Given the description of an element on the screen output the (x, y) to click on. 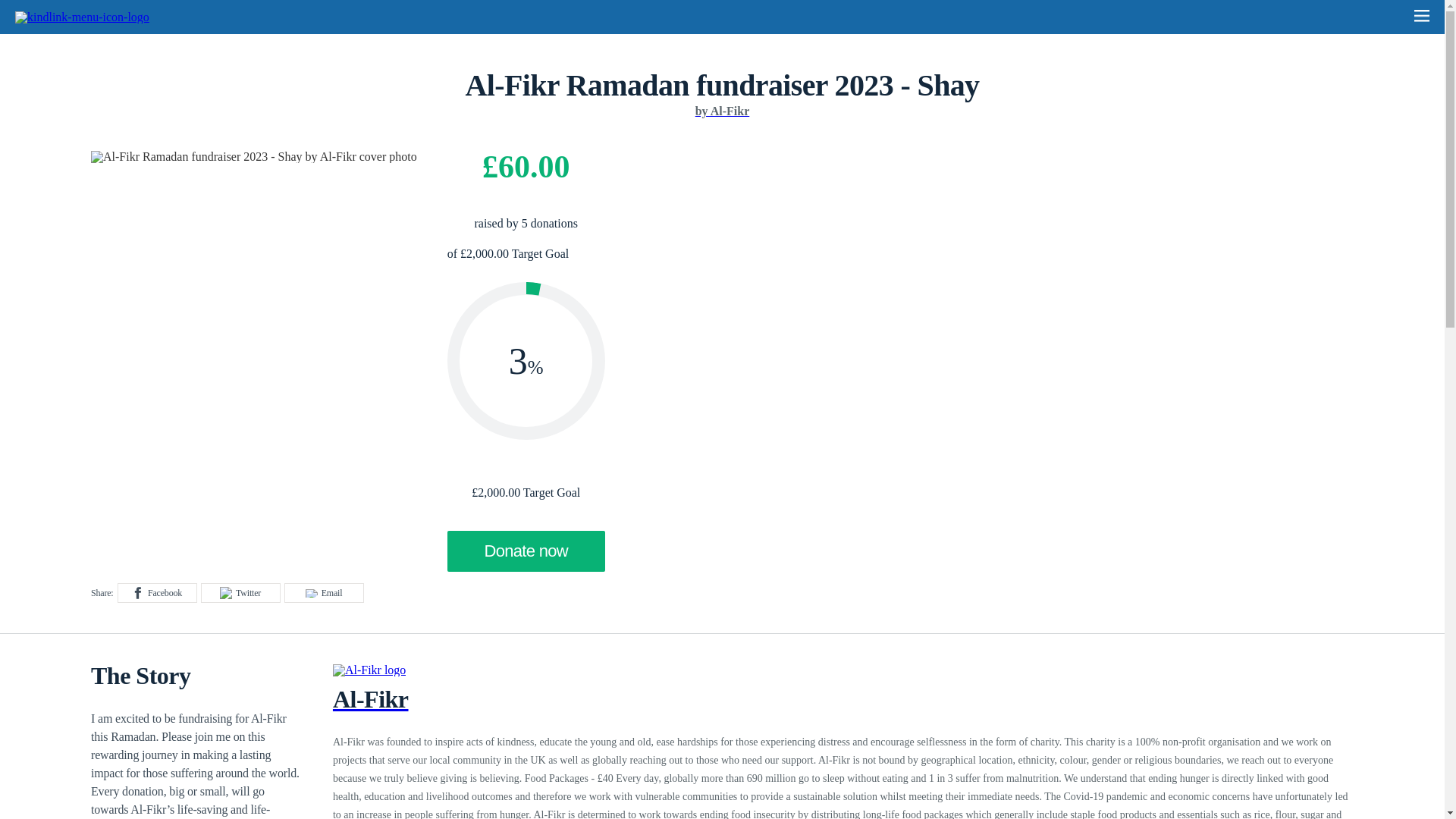
Al-Fikr (843, 710)
Twitter (240, 592)
Donate now (525, 550)
Email (323, 592)
by Al-Fikr (722, 111)
Facebook (156, 592)
